Given the description of an element on the screen output the (x, y) to click on. 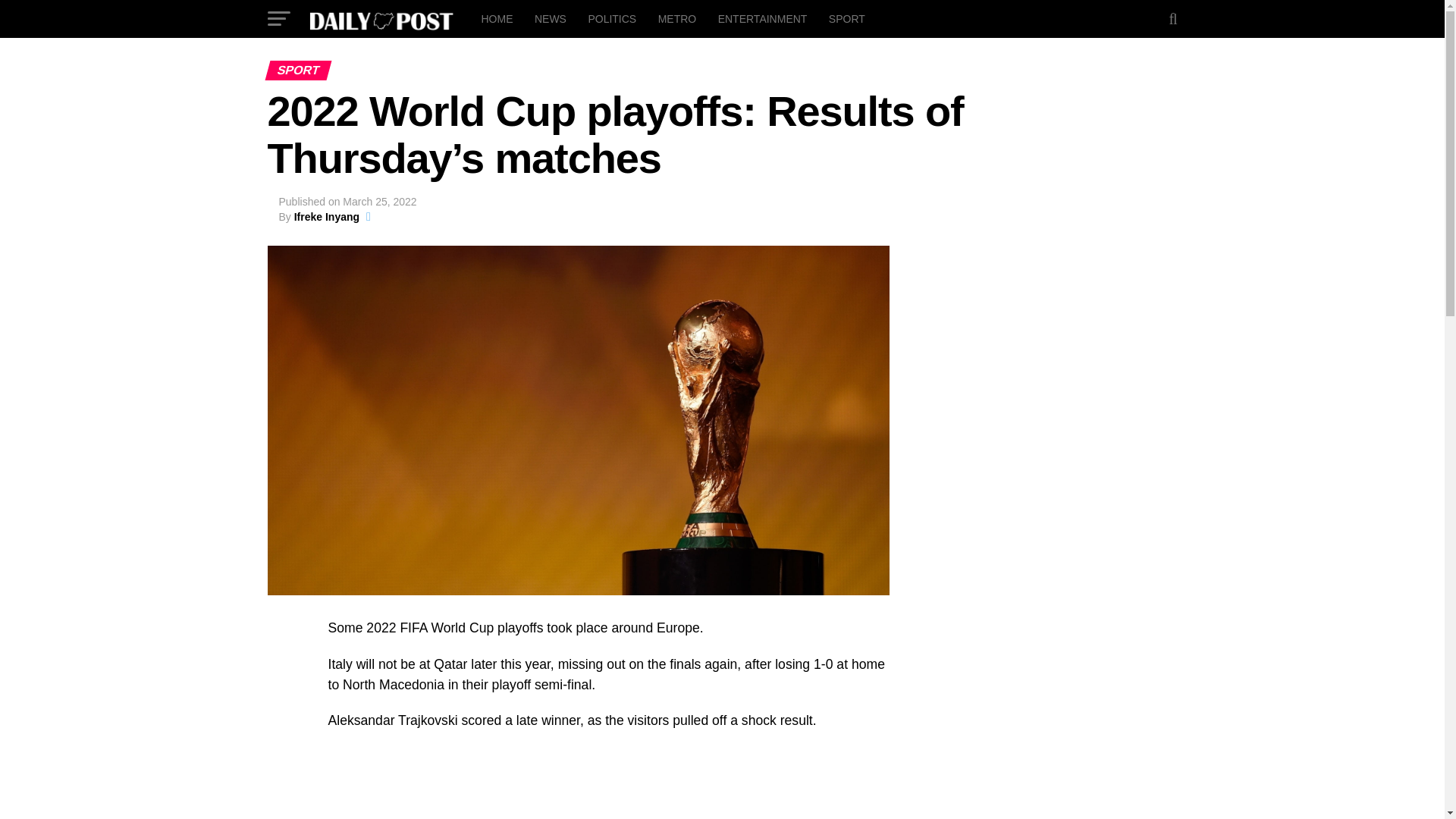
NEWS (550, 18)
SPORT (847, 18)
METRO (677, 18)
Posts by Ifreke Inyang (326, 216)
ENTERTAINMENT (762, 18)
HOME (496, 18)
POLITICS (611, 18)
Ifreke Inyang (326, 216)
